Given the description of an element on the screen output the (x, y) to click on. 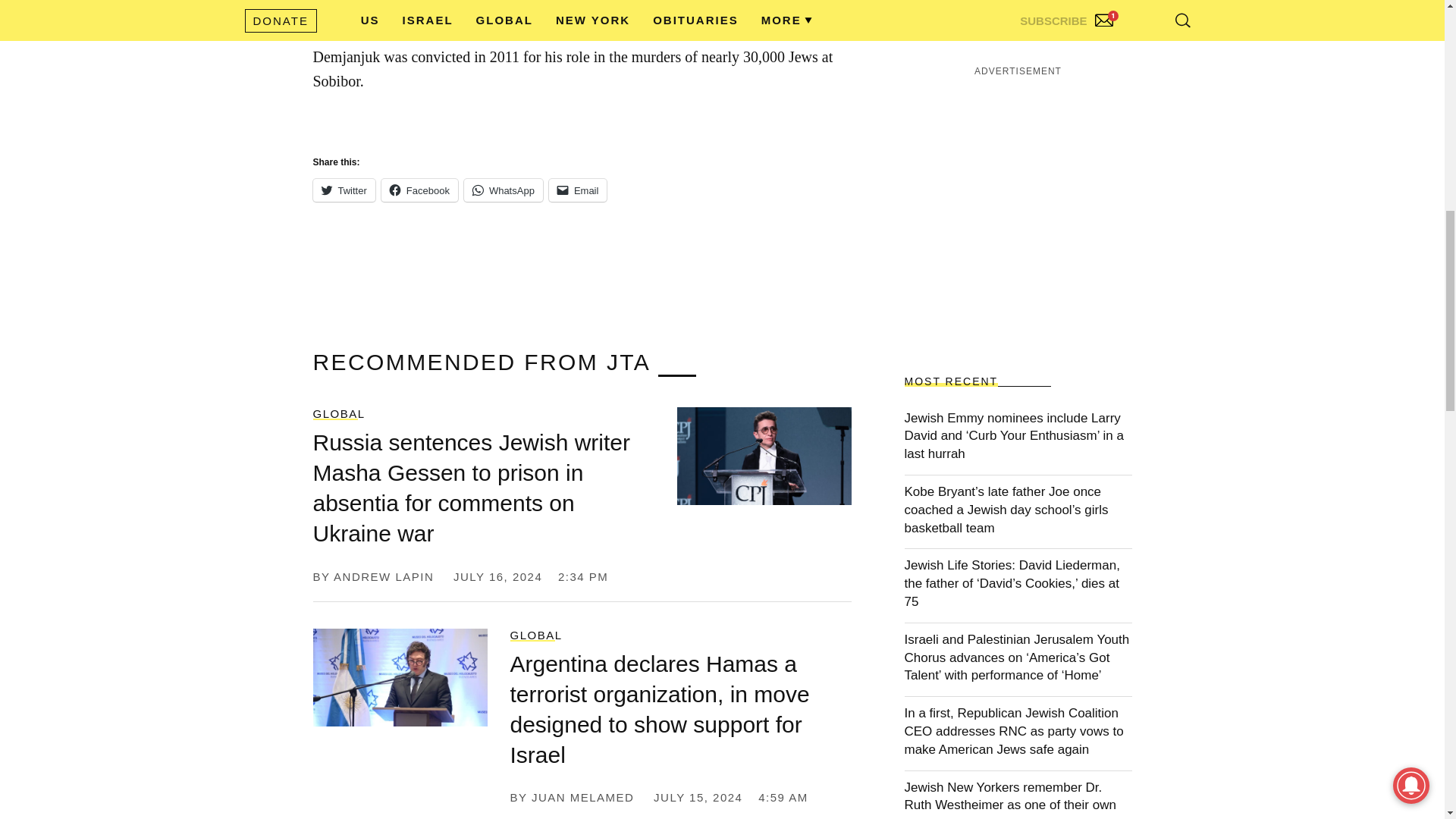
Click to email a link to a friend (577, 190)
Click to share on Twitter (343, 190)
Click to share on Facebook (419, 190)
Click to share on WhatsApp (503, 190)
